Given the description of an element on the screen output the (x, y) to click on. 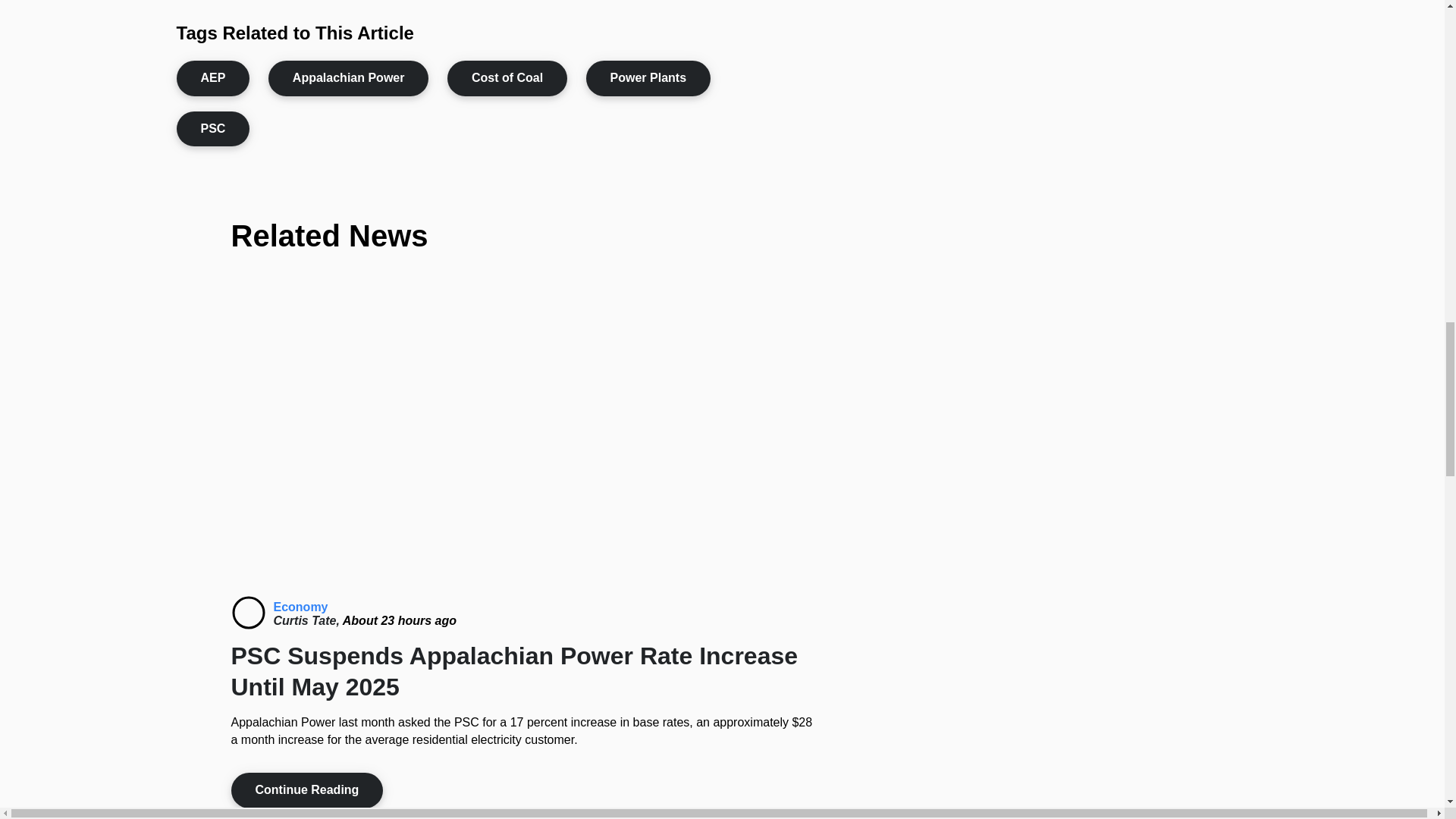
Curtis Tate (307, 620)
AEP (212, 77)
Cost of Coal (506, 77)
Power Plants (648, 77)
Appalachian Power (348, 77)
PSC (212, 128)
PSC Suspends Appalachian Power Rate Increase Until May 2025 (247, 612)
